Given the description of an element on the screen output the (x, y) to click on. 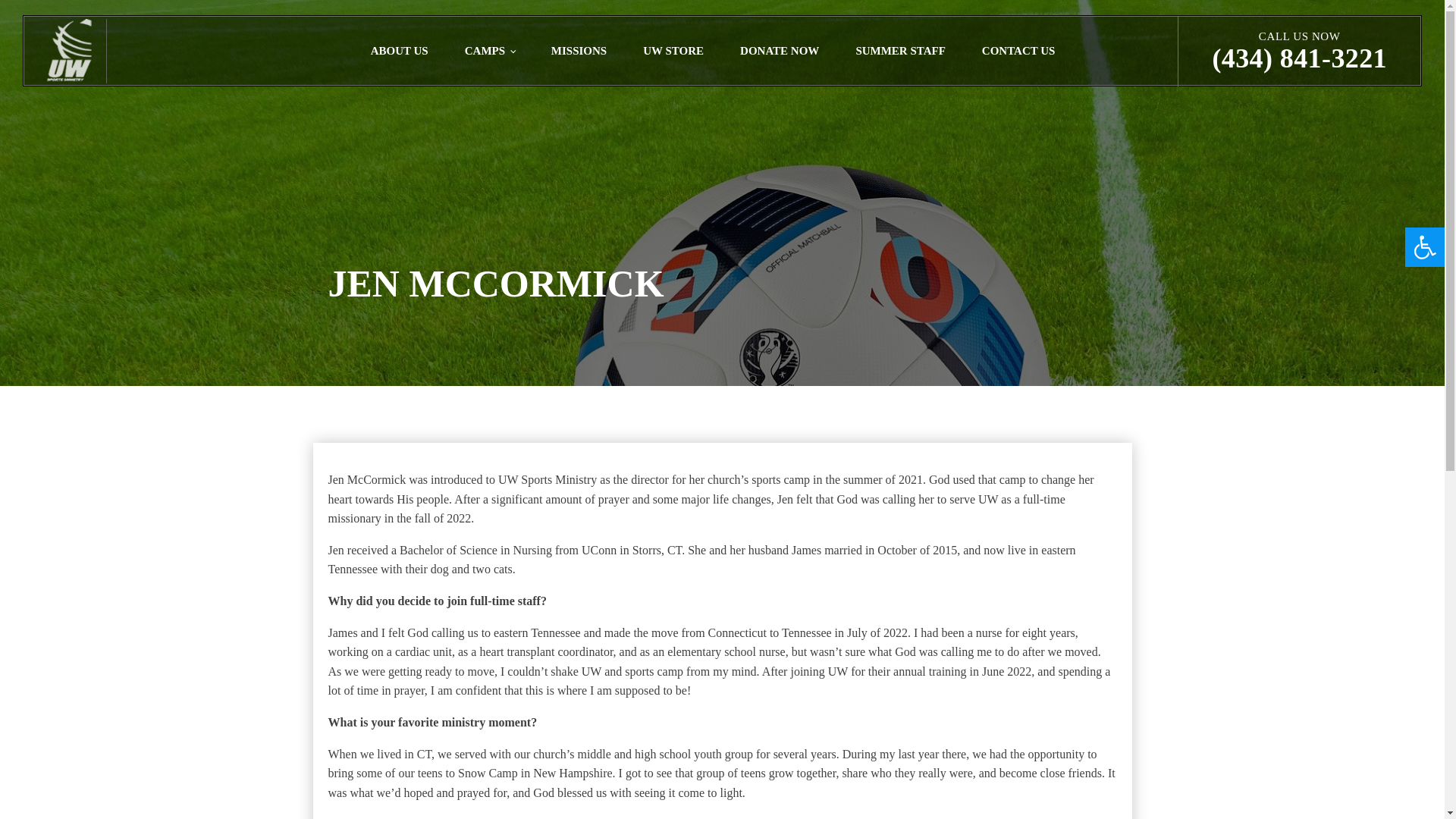
CONTACT US (1018, 50)
MISSIONS (578, 50)
UW STORE (673, 50)
SUMMER STAFF (899, 50)
Accessibility Tools (1424, 247)
CAMPS (489, 50)
ABOUT US (399, 50)
DONATE NOW (779, 50)
